Given the description of an element on the screen output the (x, y) to click on. 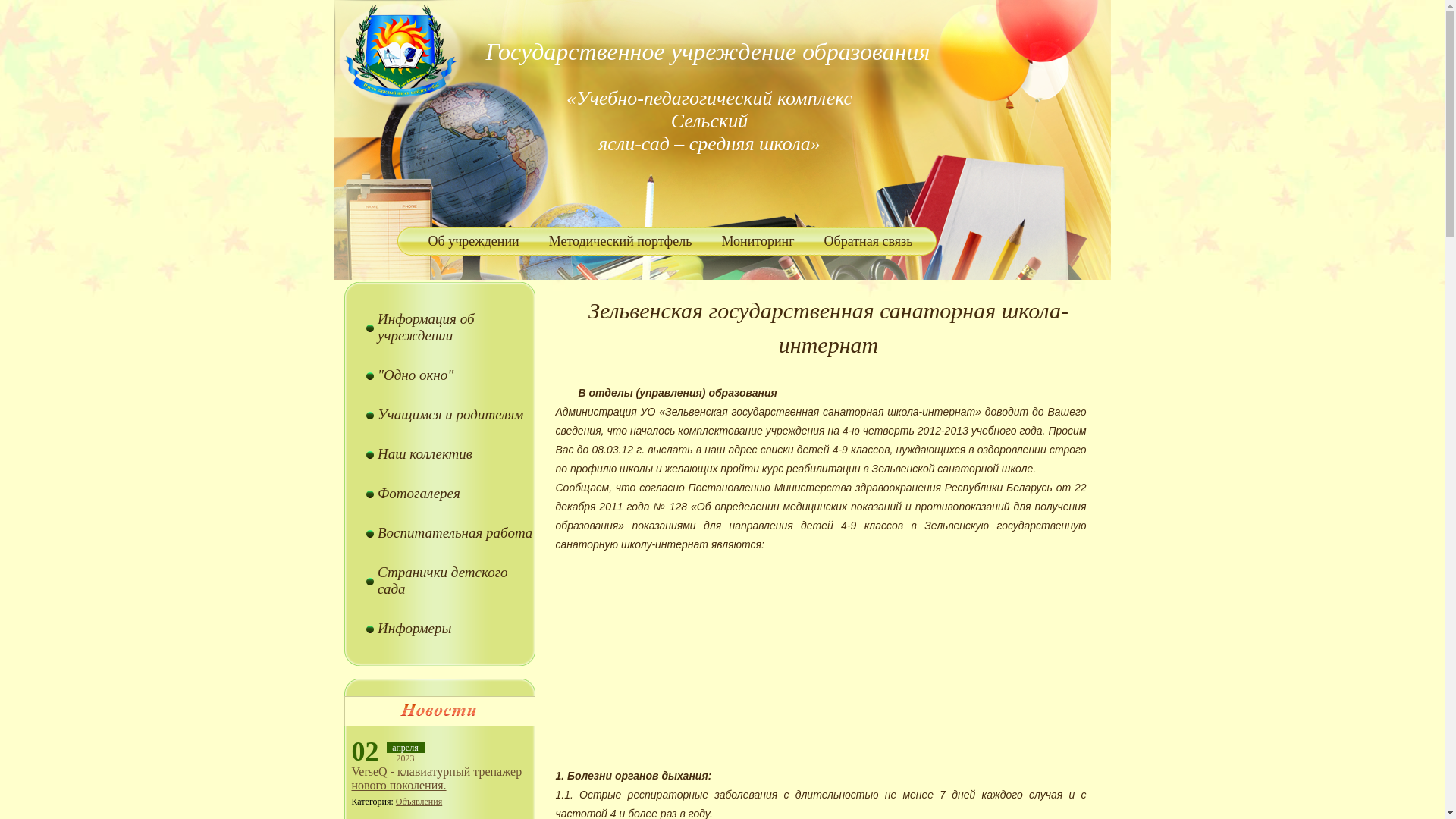
Advertisement Element type: hover (842, 660)
